Given the description of an element on the screen output the (x, y) to click on. 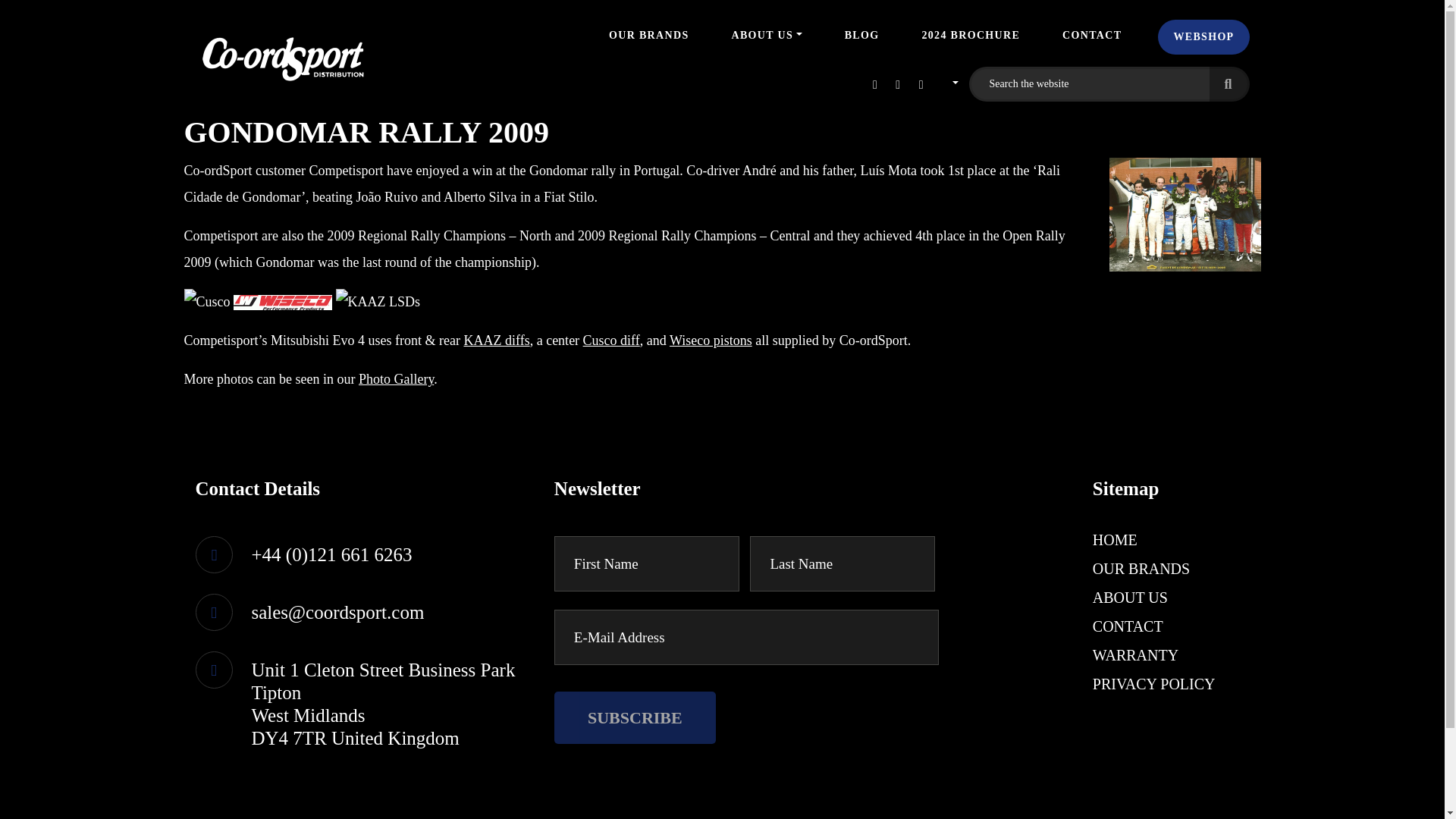
Webshop (1203, 36)
HOME (1115, 540)
Contact (1091, 35)
CONTACT (1128, 626)
Wiseco pistons (710, 340)
Our Brands (648, 35)
Blog (861, 35)
Cusco diff (611, 340)
2024 Brochure (970, 35)
OUR BRANDS (648, 35)
SUBSCRIBE (635, 717)
2024 BROCHURE (970, 35)
KAAZ diffs (496, 340)
ABOUT US (1130, 597)
PRIVACY POLICY (1154, 684)
